Given the description of an element on the screen output the (x, y) to click on. 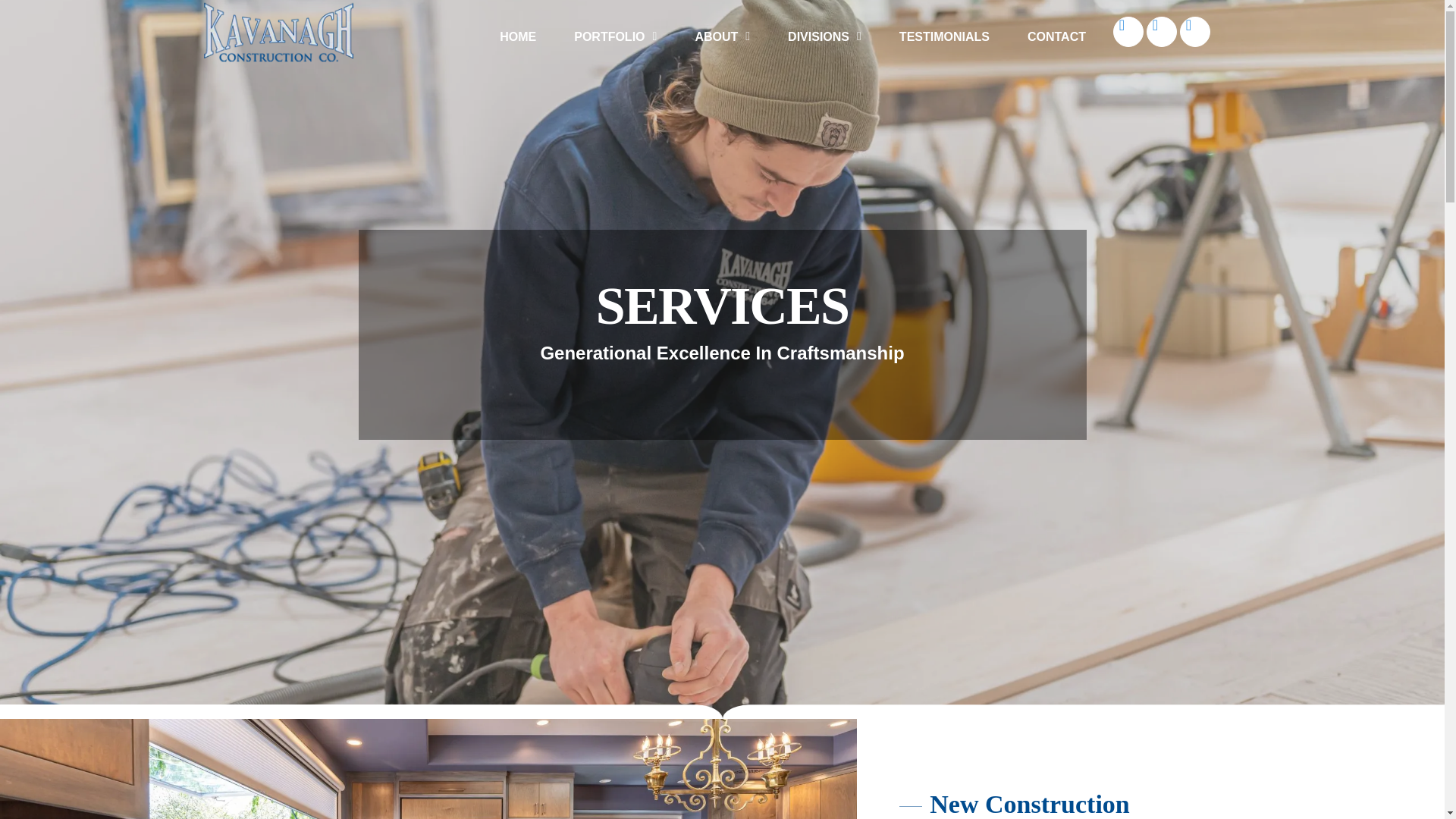
HOME (517, 36)
DIVISIONS (824, 36)
PORTFOLIO (614, 36)
CONTACT (1056, 36)
TESTIMONIALS (944, 36)
ABOUT (721, 36)
